Given the description of an element on the screen output the (x, y) to click on. 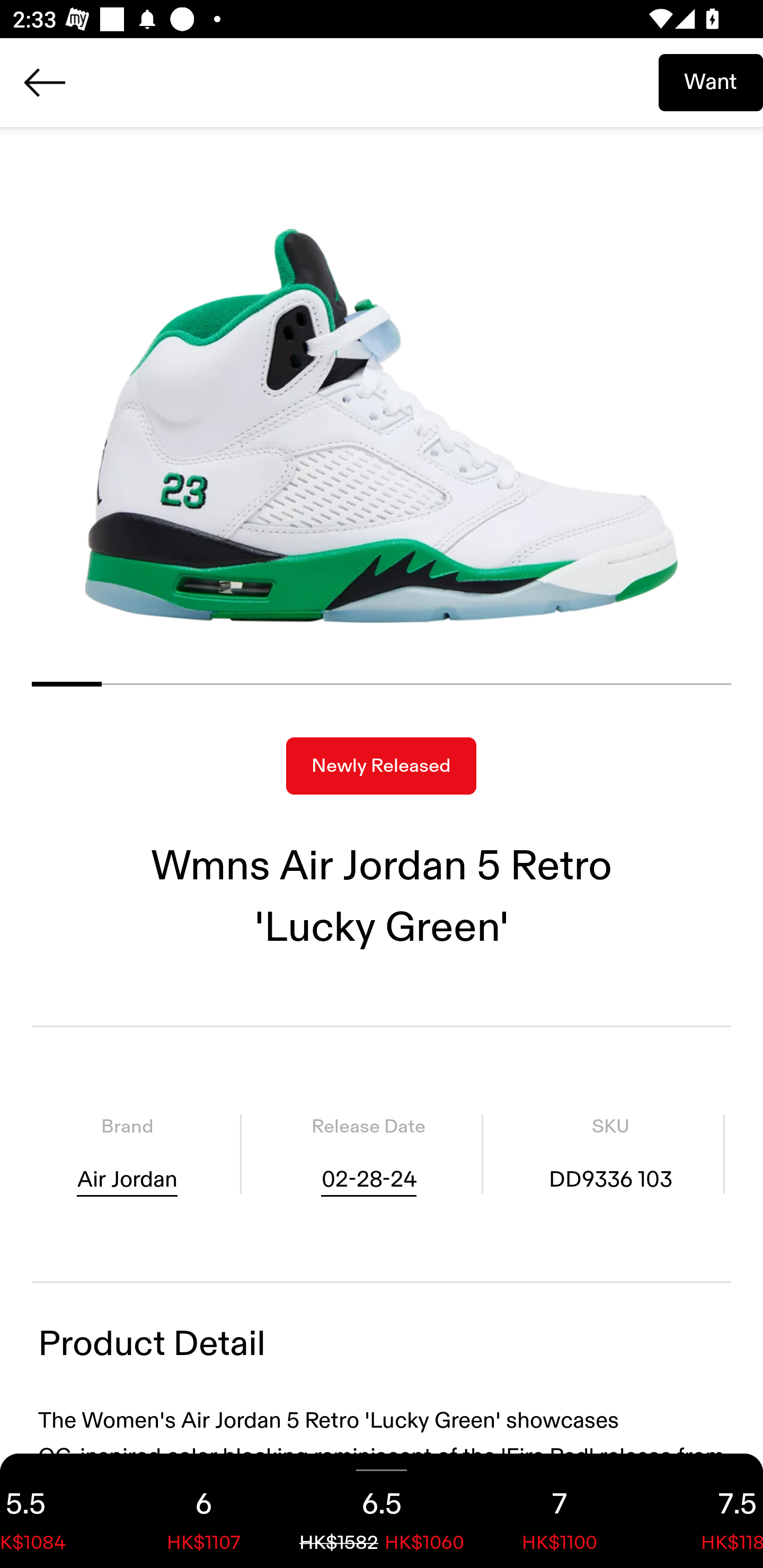
Want (710, 82)
Newly Released (381, 765)
Brand Air Jordan (126, 1153)
Release Date 02-28-24 (368, 1153)
SKU DD9336 103 (609, 1153)
5.5 HK$1084 (57, 1510)
6 HK$1107 (203, 1510)
6.5 HK$1582 HK$1060 (381, 1510)
7 HK$1100 (559, 1510)
7.5 HK$1187 (705, 1510)
